Given the description of an element on the screen output the (x, y) to click on. 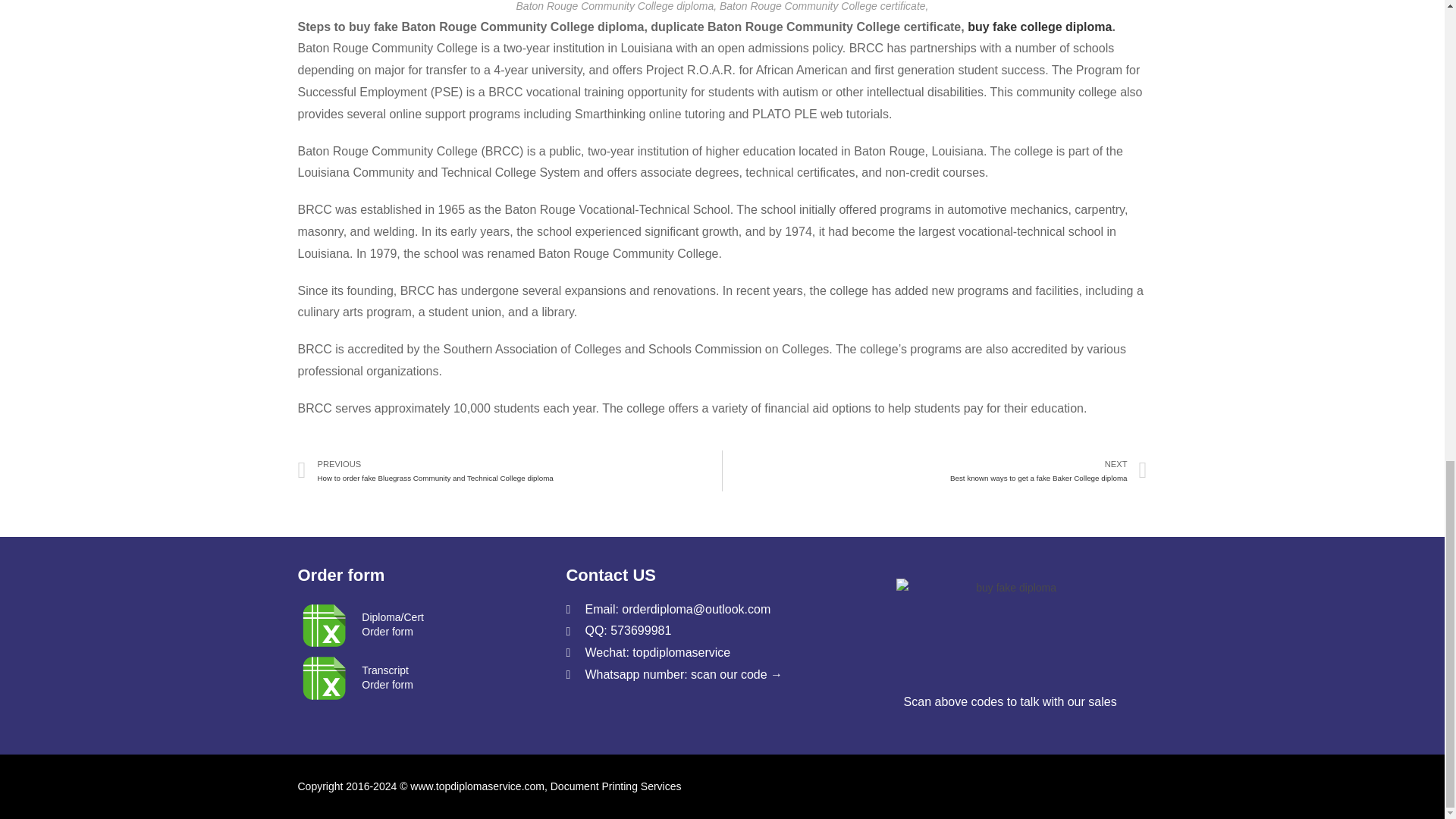
buy fake college diploma (387, 677)
